Given the description of an element on the screen output the (x, y) to click on. 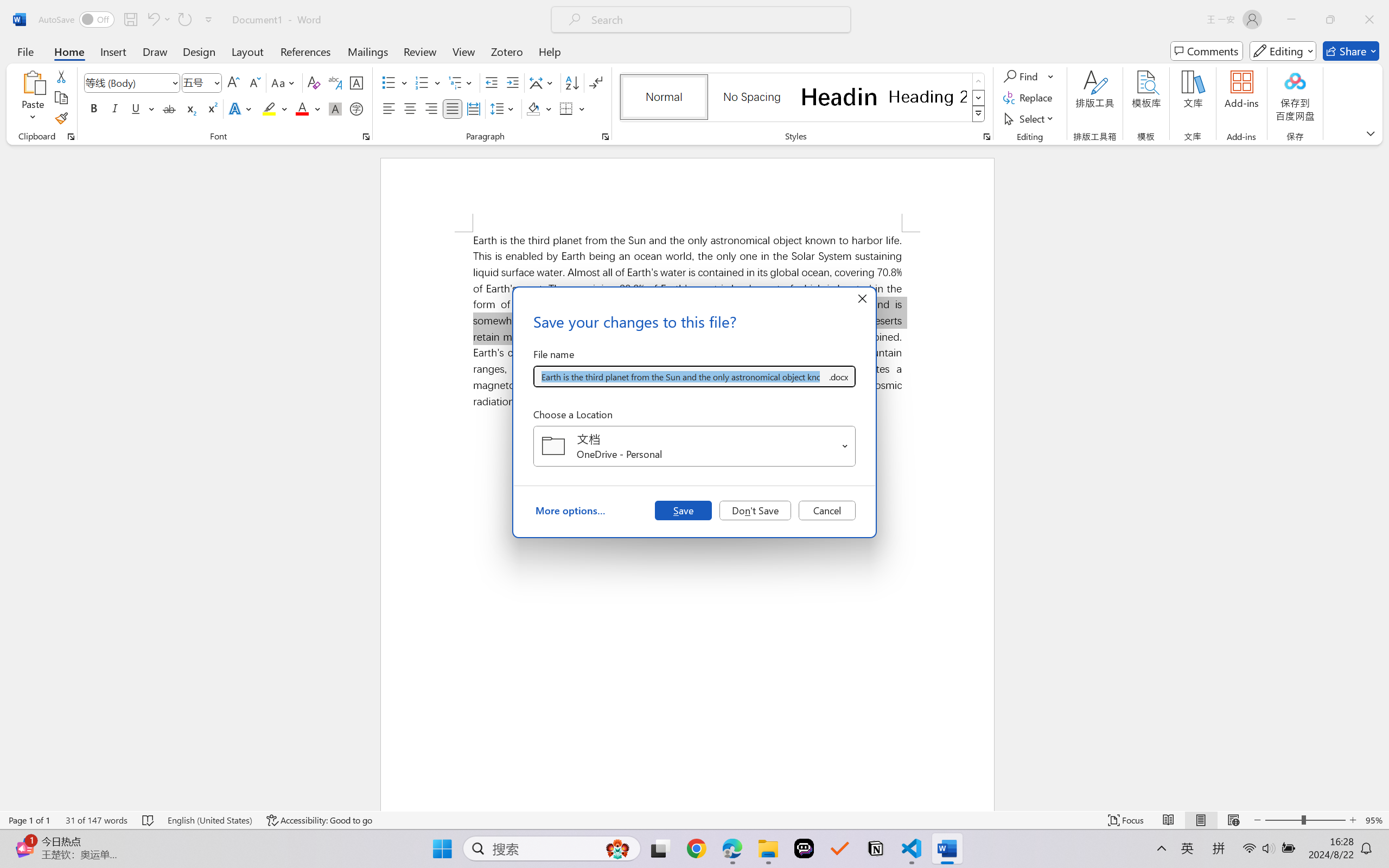
Enclose Characters... (356, 108)
Center (409, 108)
Text Highlight Color Yellow (269, 108)
Don't Save (755, 509)
Paragraph... (605, 136)
